Given the description of an element on the screen output the (x, y) to click on. 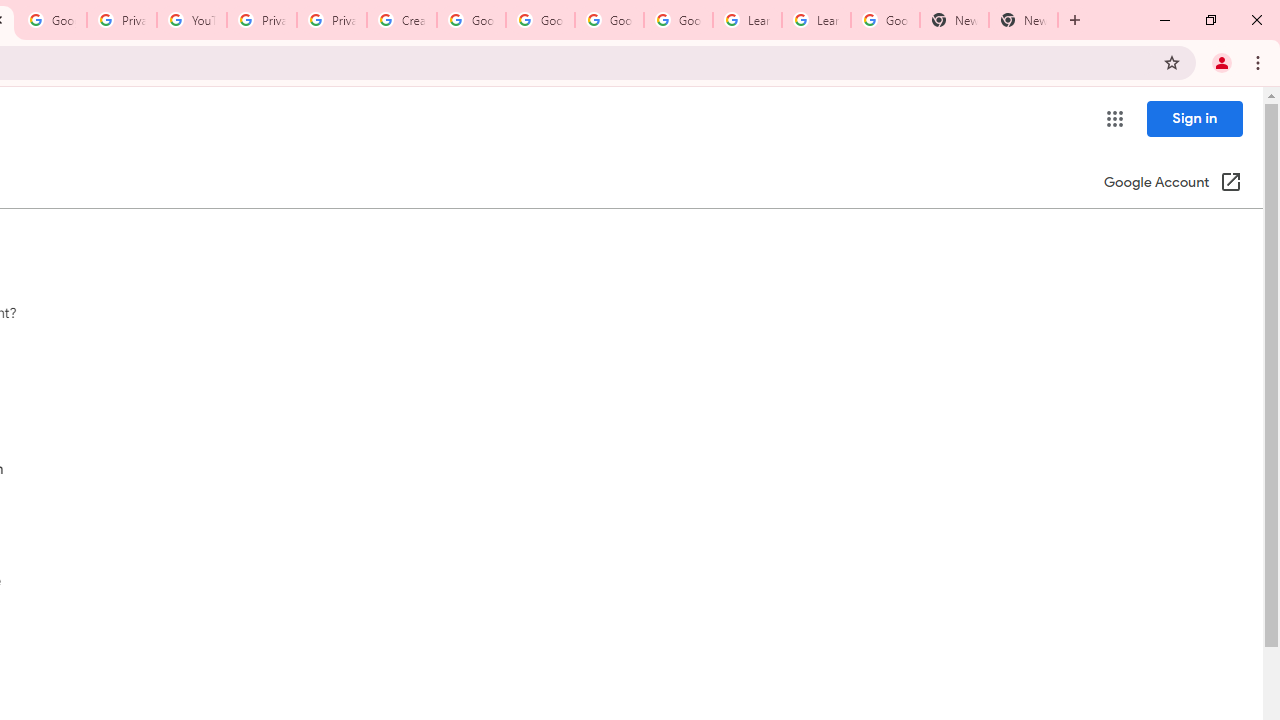
Google Account Help (608, 20)
Google Account Help (539, 20)
New Tab (954, 20)
Google Account Help (677, 20)
New Tab (1023, 20)
